Given the description of an element on the screen output the (x, y) to click on. 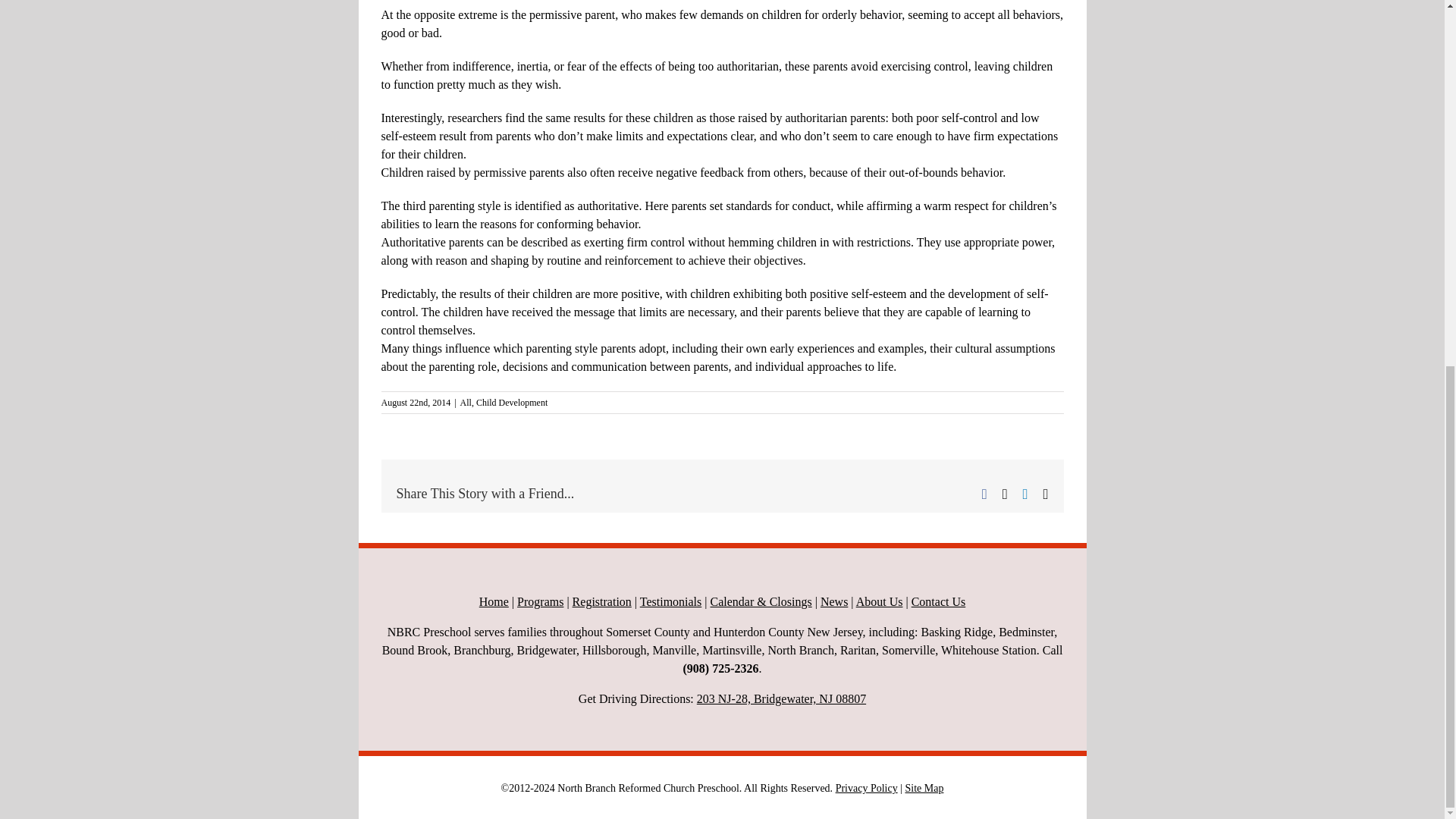
Bridgewater NJ Preschool Driving Directions (781, 698)
Preschool Programs in Bridgewater NJ (539, 601)
Preschool Testimonials (670, 601)
Preschool Registration Information (601, 601)
Contact Preschool Bridgewater NJ (938, 601)
Preschool News (834, 601)
About NBRC Preschool (879, 601)
Preschool Bridgewater NJ (493, 601)
Preschool Calendar (760, 601)
